Given the description of an element on the screen output the (x, y) to click on. 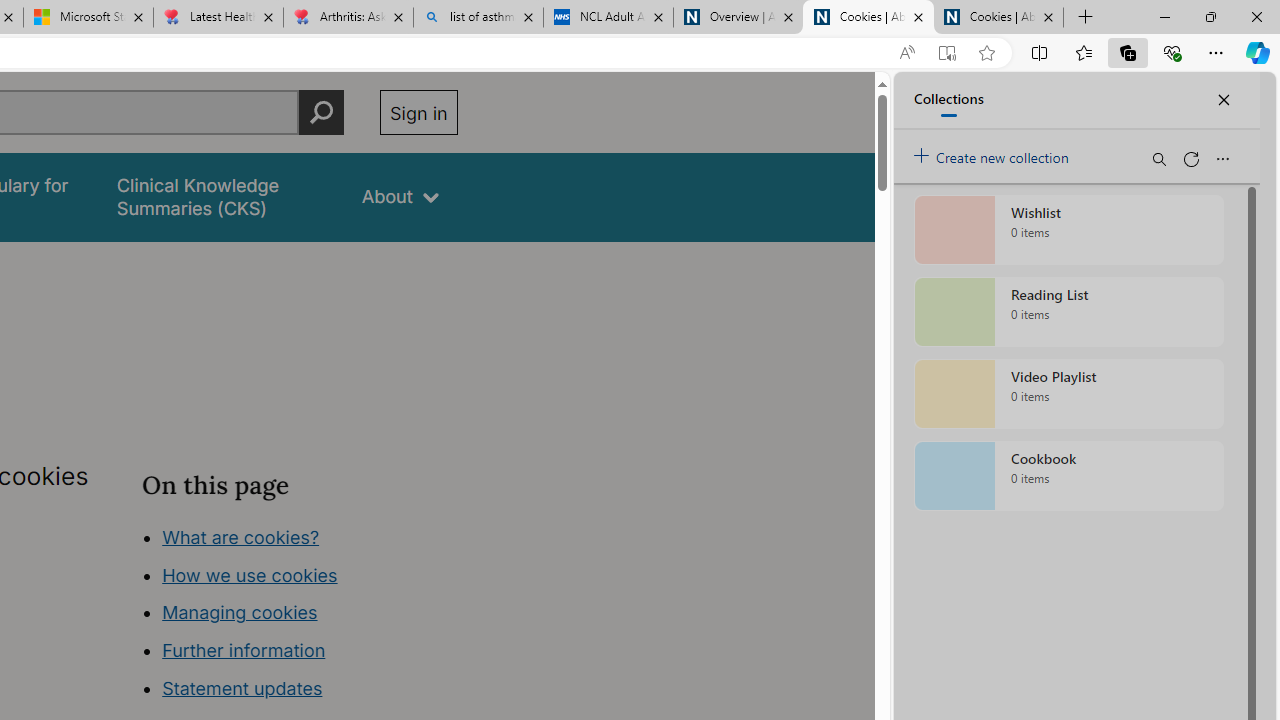
What are cookies? (241, 536)
false (221, 196)
How we use cookies (249, 574)
Further information (244, 650)
Class: in-page-nav__list (299, 615)
